Given the description of an element on the screen output the (x, y) to click on. 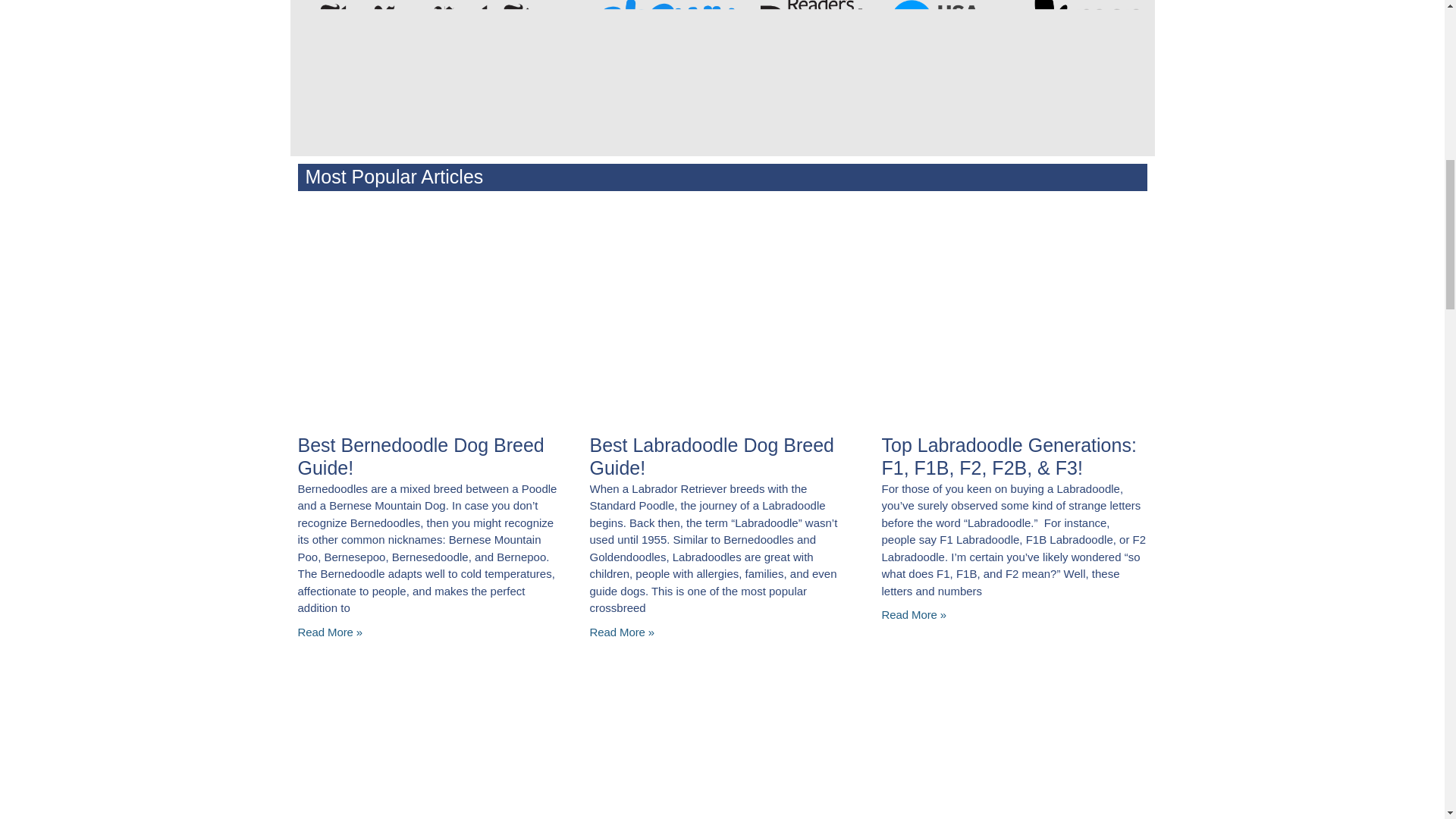
Labradoodle Dog Breed Guide (720, 311)
Bernedoodle Dog Breed Information (427, 311)
Best Bernedoodle Dog Breed Guide! (420, 455)
Best Labradoodle Dog Breed Guide! (711, 455)
